Given the description of an element on the screen output the (x, y) to click on. 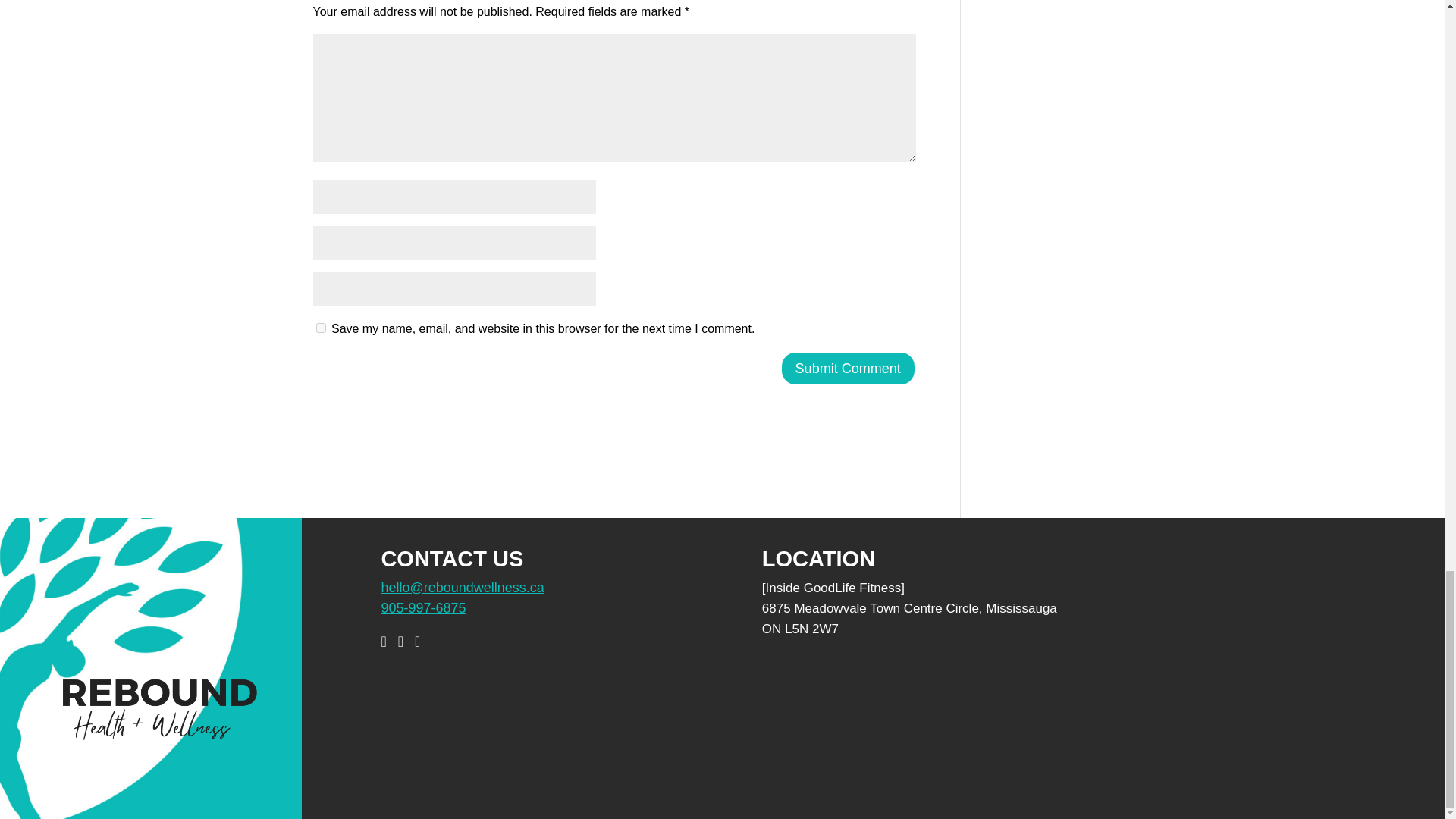
yes (319, 327)
Submit Comment (847, 367)
